Given the description of an element on the screen output the (x, y) to click on. 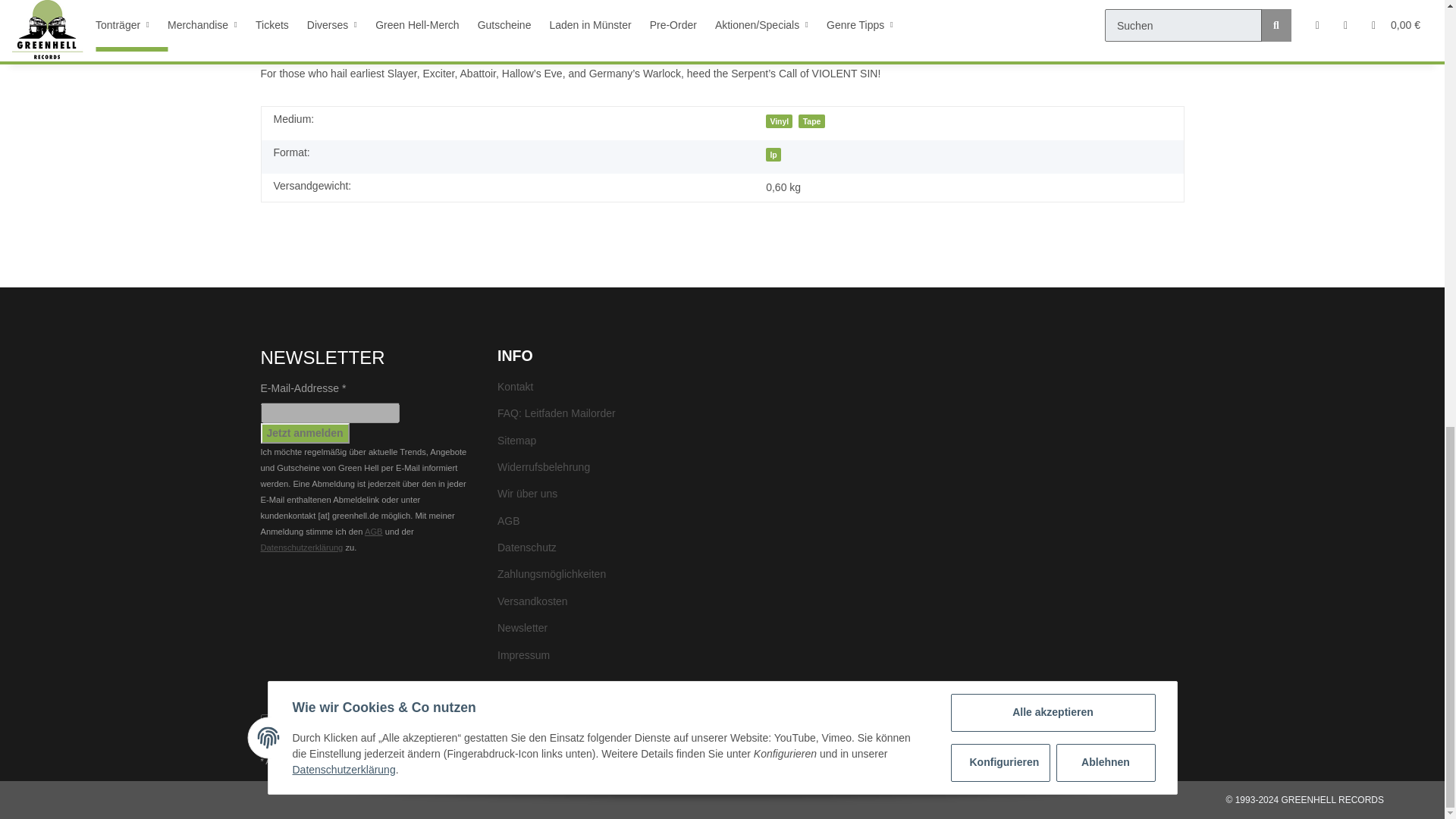
Jetzt anmelden (304, 433)
